Given the description of an element on the screen output the (x, y) to click on. 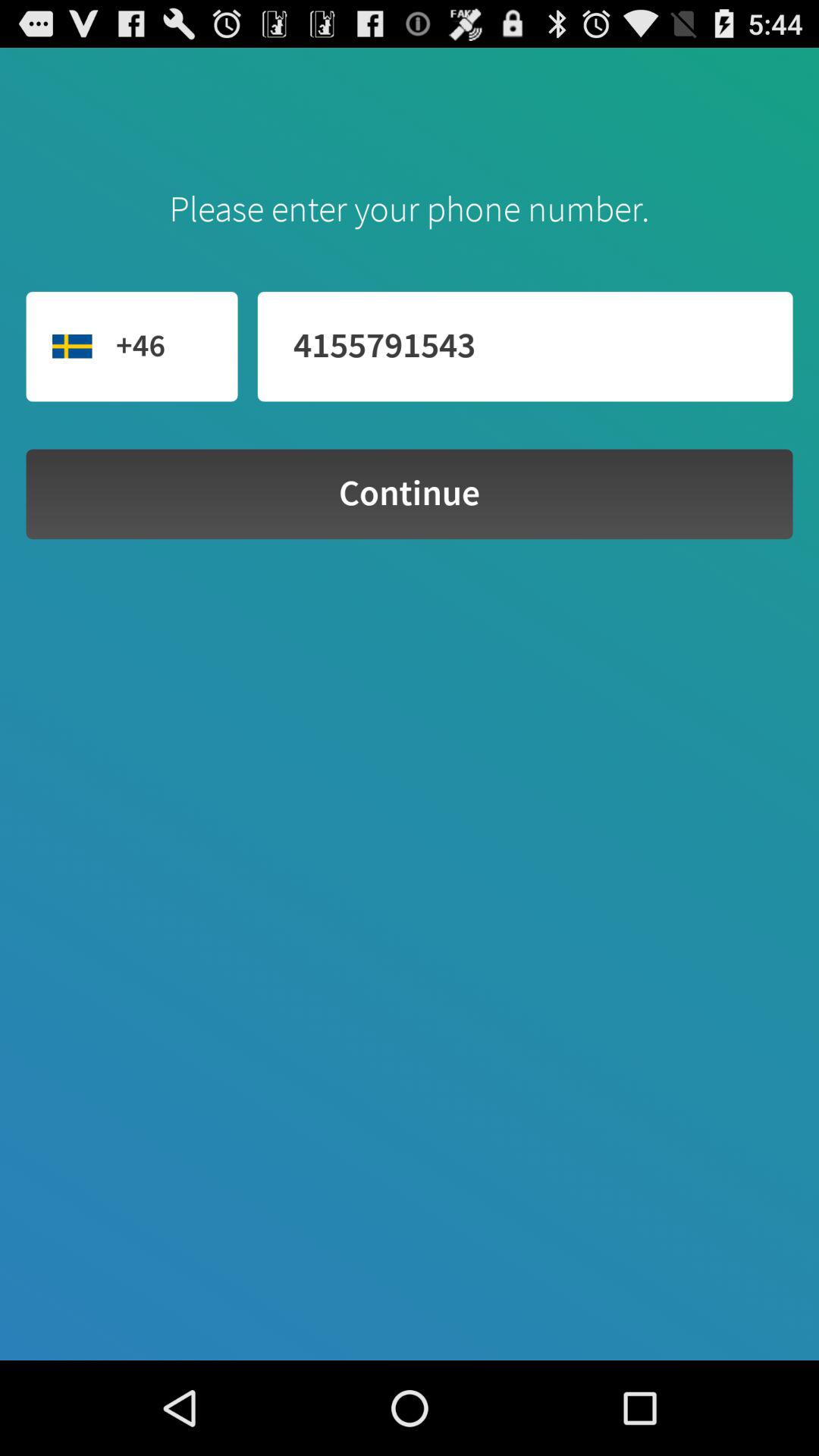
flip until the 4155791543 icon (524, 346)
